Given the description of an element on the screen output the (x, y) to click on. 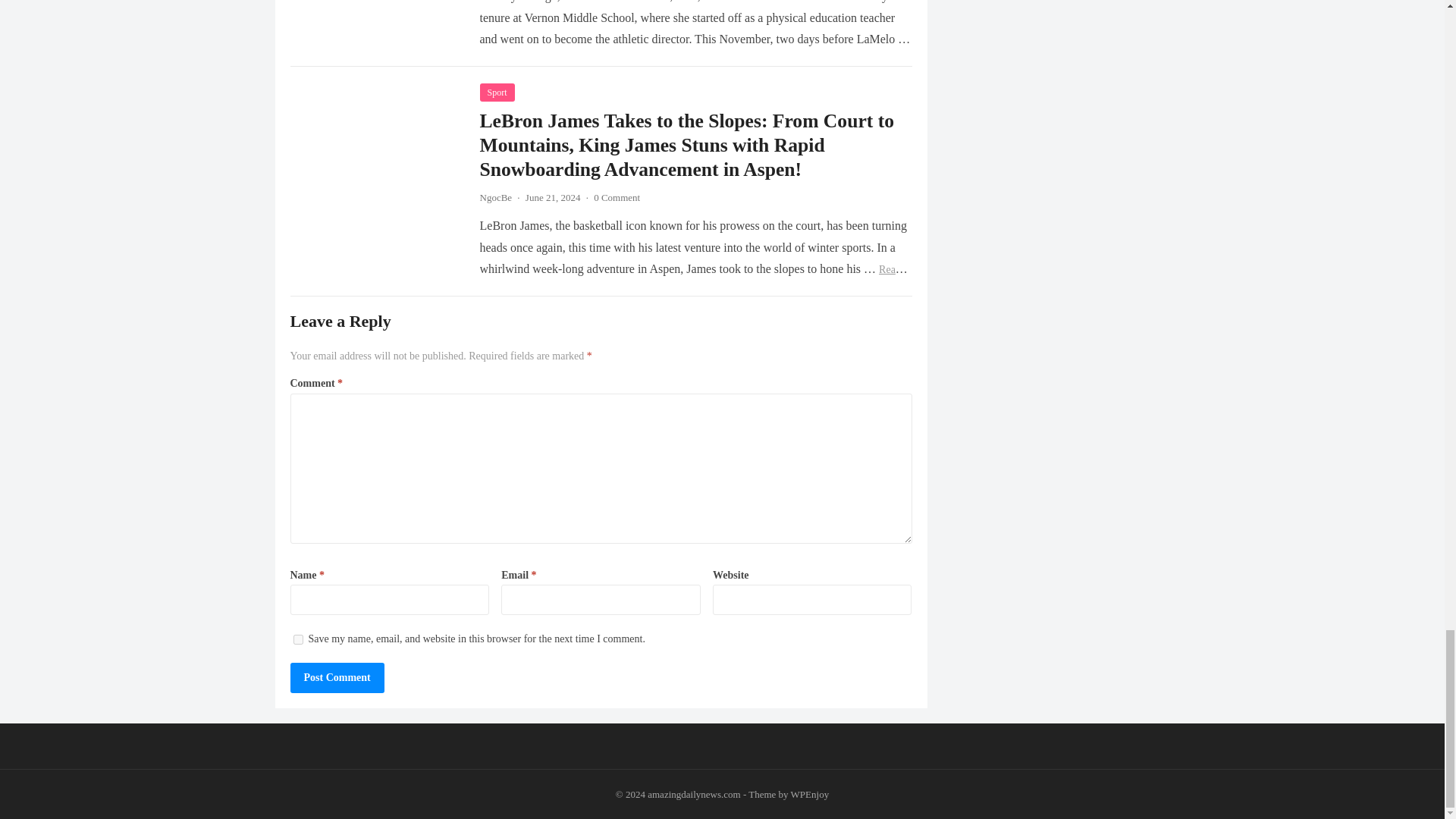
Post Comment (336, 677)
yes (297, 639)
Posts by NgocBe (495, 197)
